Given the description of an element on the screen output the (x, y) to click on. 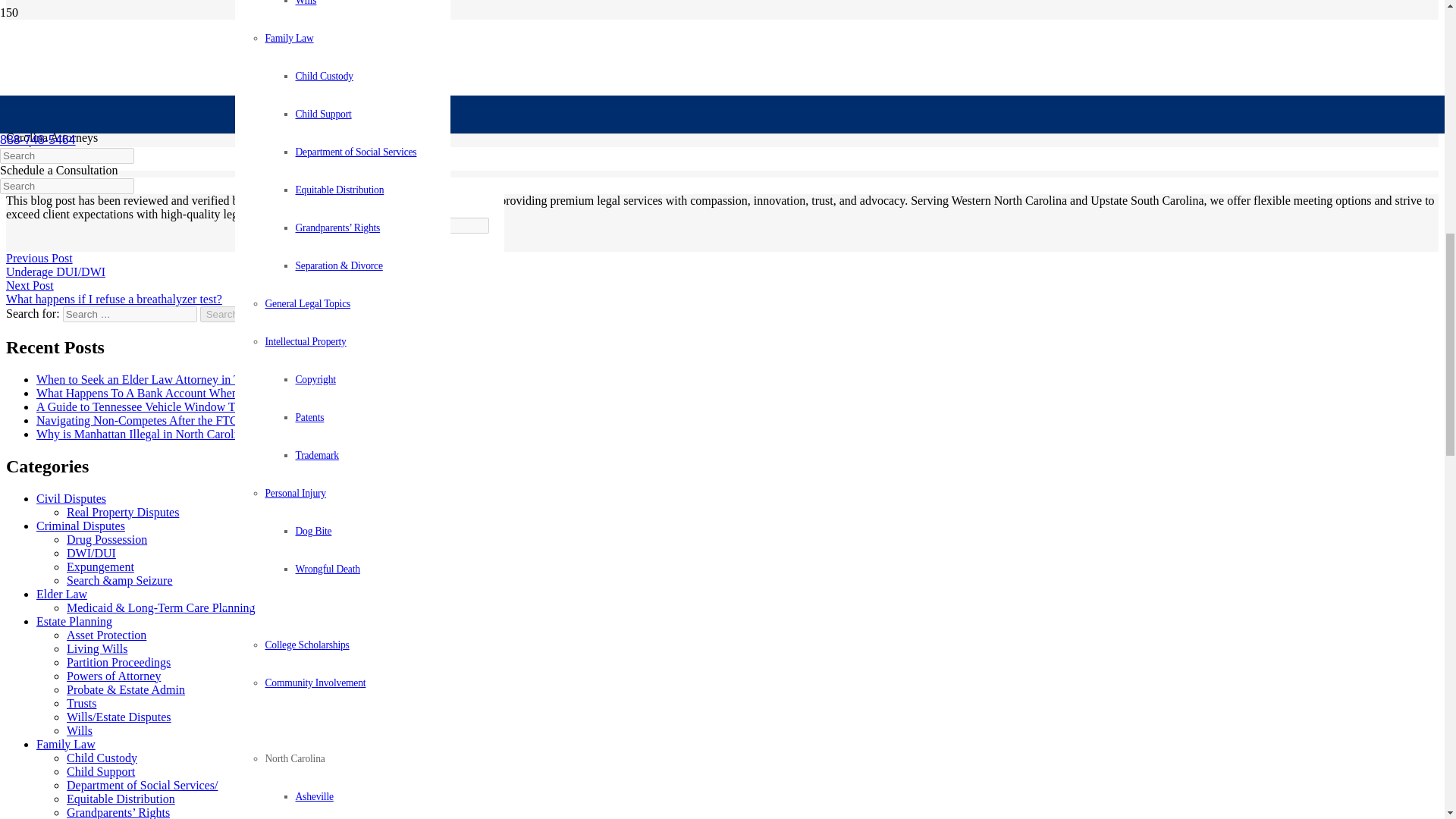
Search (222, 314)
Search (222, 314)
King Law Logo (183, 44)
